Given the description of an element on the screen output the (x, y) to click on. 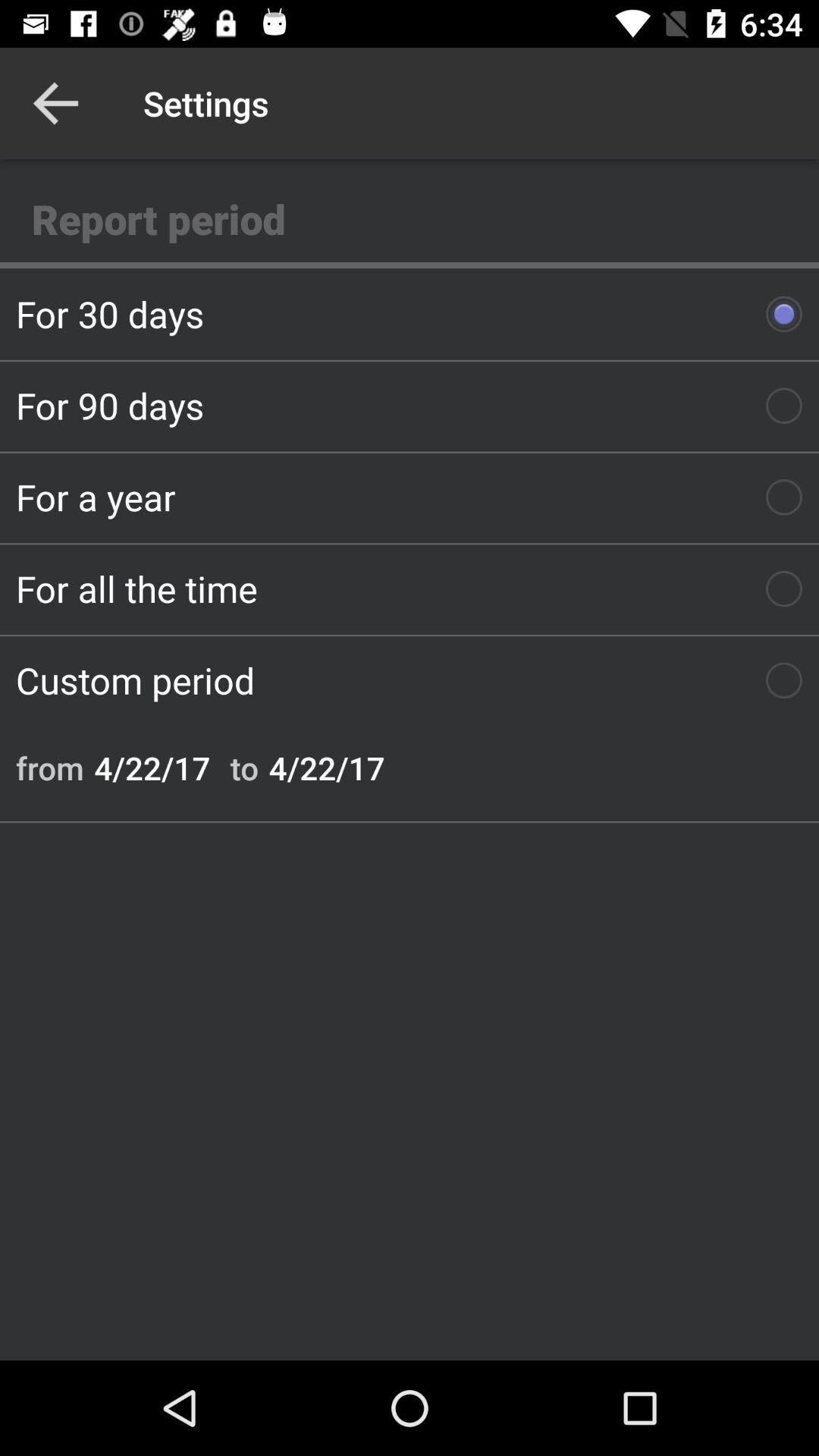
turn on icon next to the 4/22/17 item (244, 767)
